Given the description of an element on the screen output the (x, y) to click on. 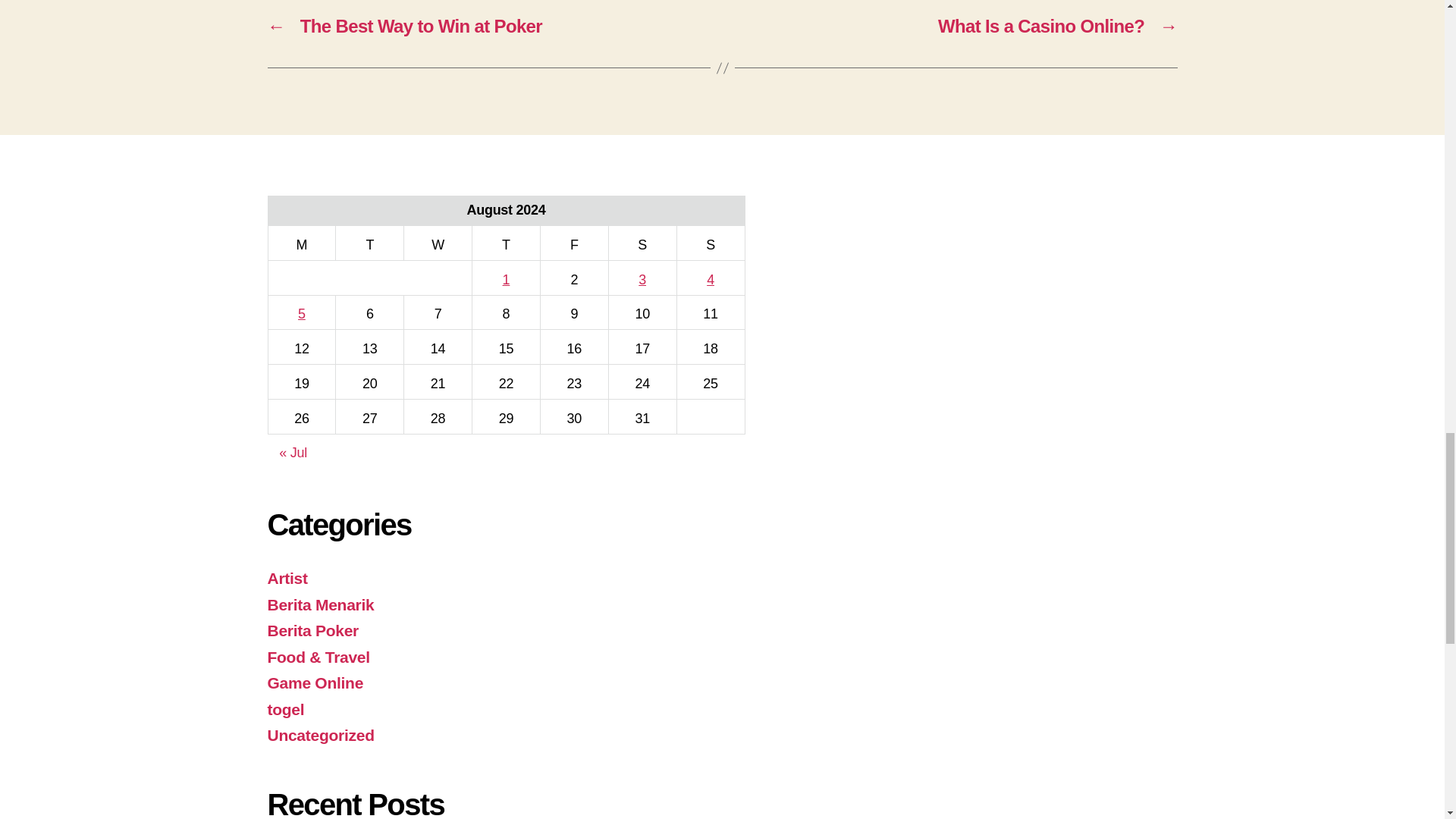
Monday (301, 243)
Friday (574, 243)
Wednesday (437, 243)
Berita Poker (312, 630)
Sunday (710, 243)
Artist (286, 578)
Thursday (505, 243)
togel (285, 709)
Berita Menarik (320, 604)
Game Online (314, 682)
